Given the description of an element on the screen output the (x, y) to click on. 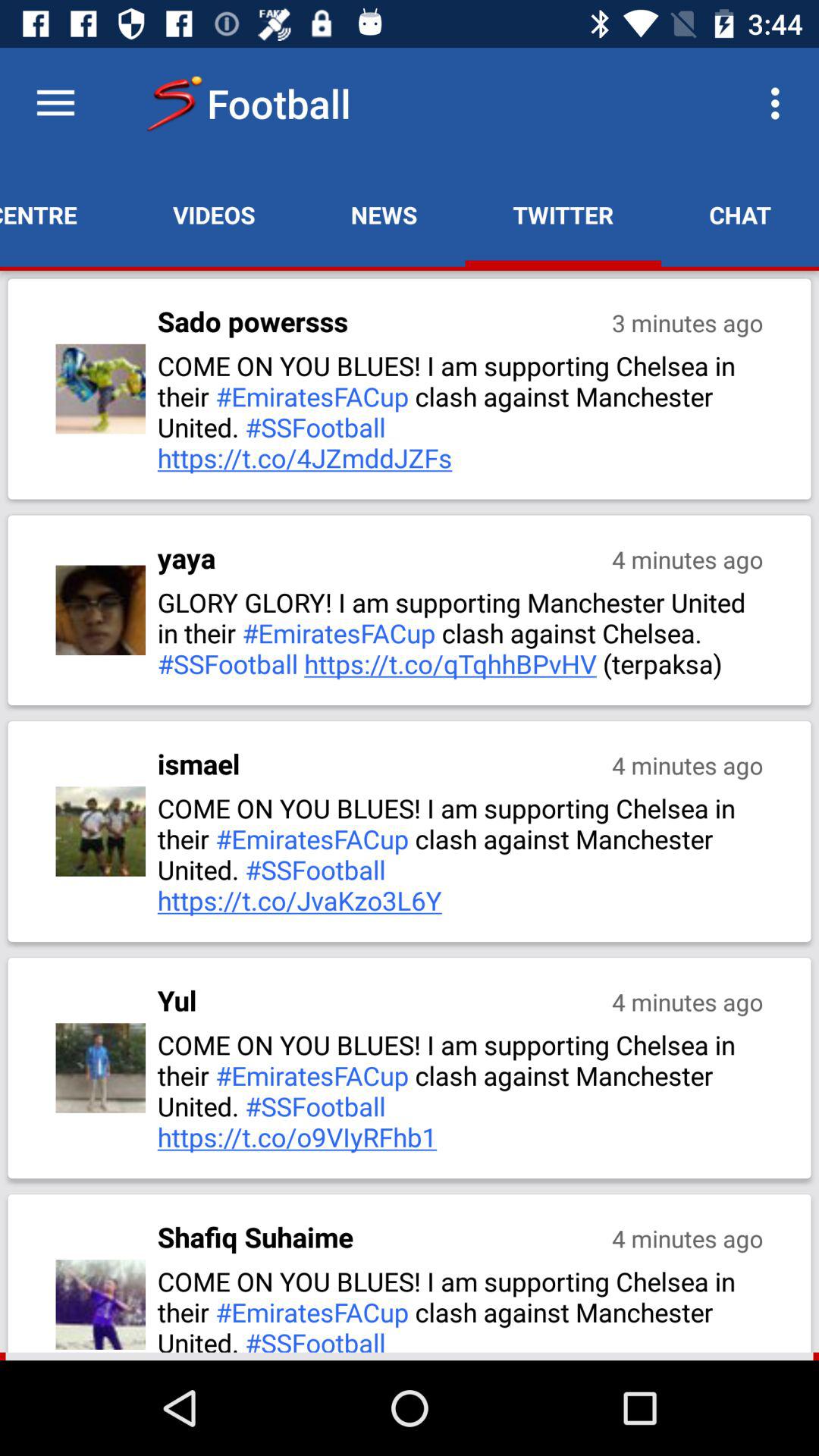
turn off the match centre (62, 214)
